Given the description of an element on the screen output the (x, y) to click on. 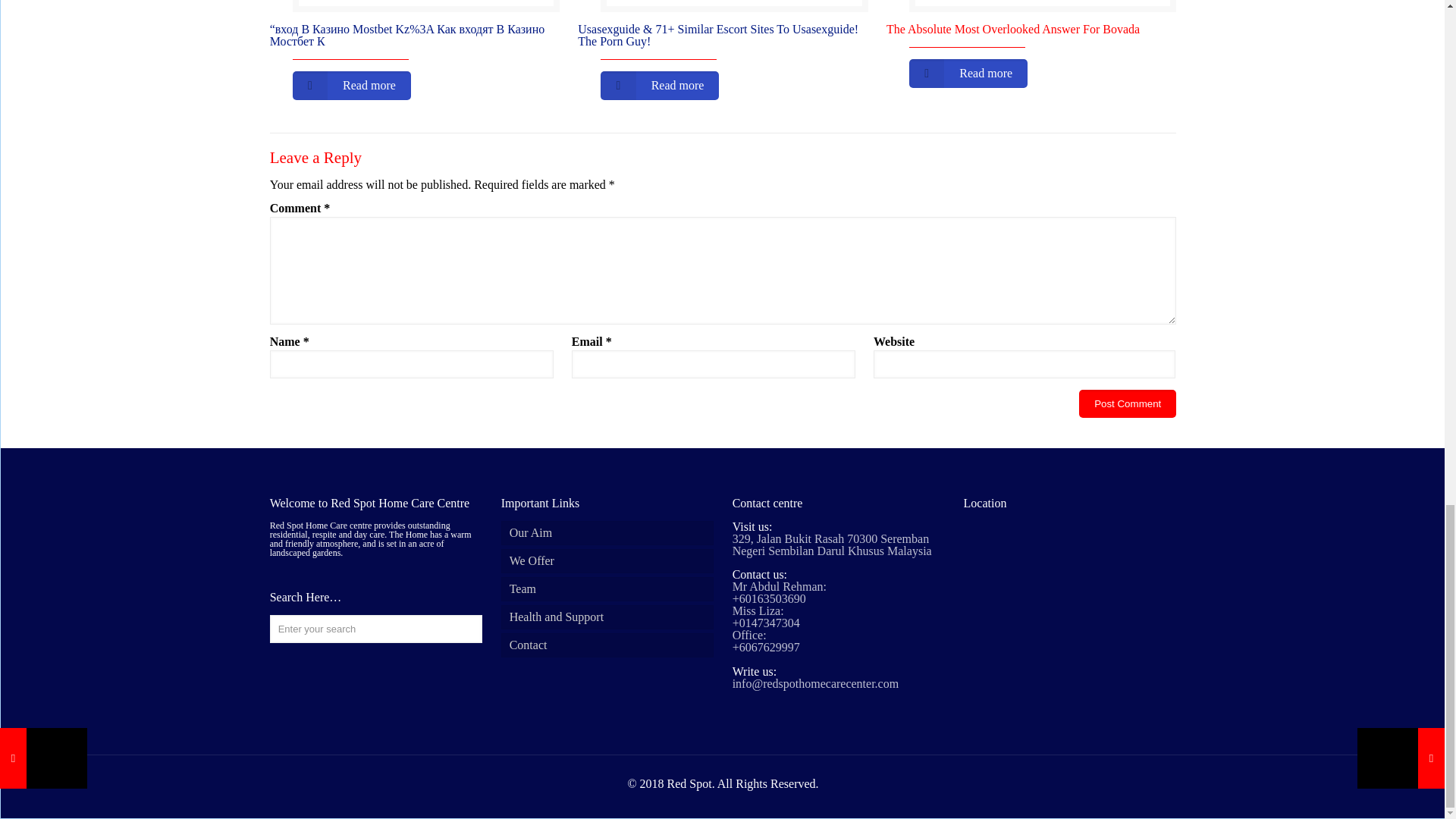
Read more (967, 72)
Read more (351, 85)
We Offer (607, 560)
Read more (659, 85)
The Absolute Most Overlooked Answer For Bovada (1031, 29)
Post Comment (1127, 403)
Our Aim (607, 532)
Post Comment (1127, 403)
